Given the description of an element on the screen output the (x, y) to click on. 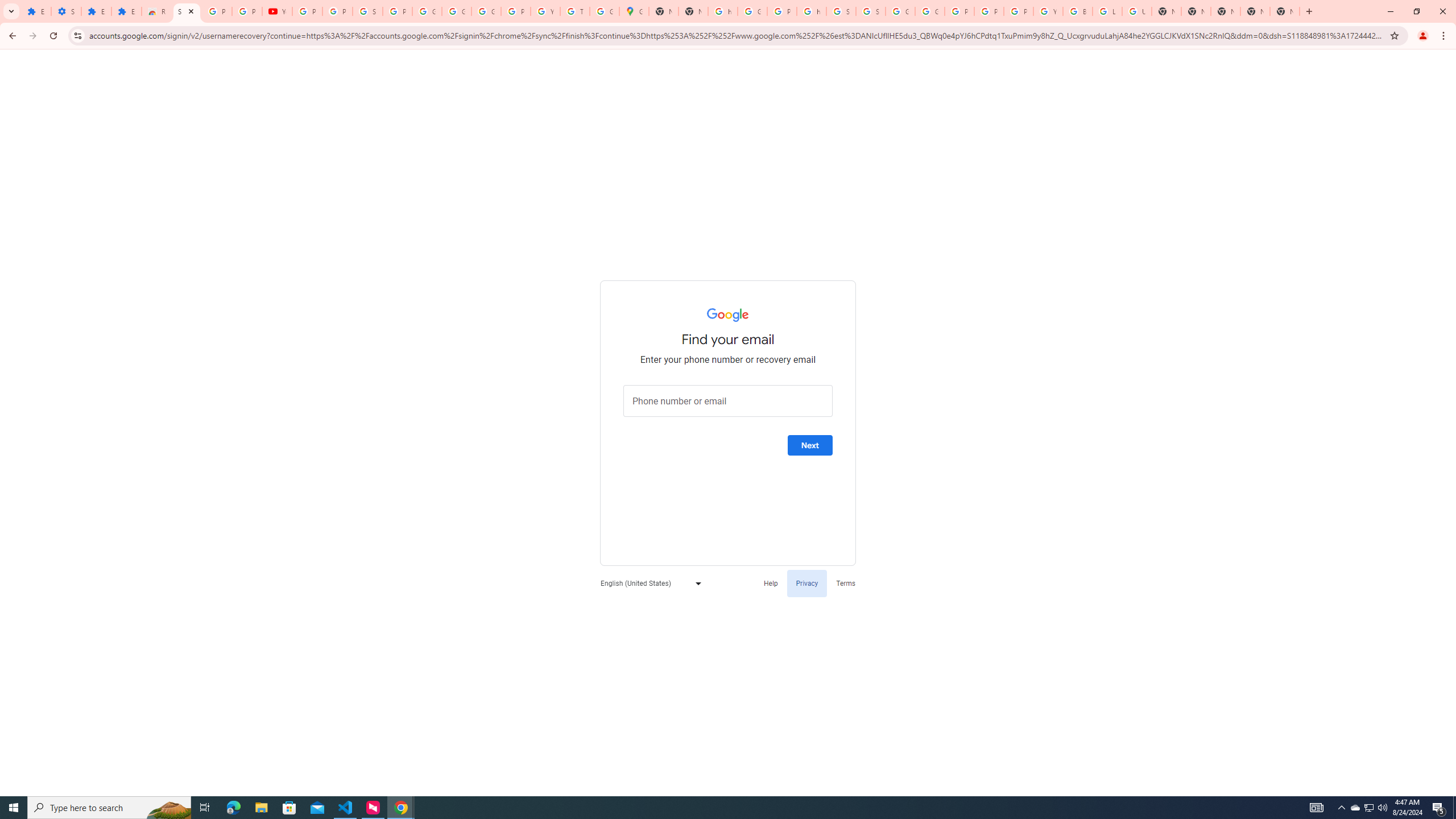
Privacy Help Center - Policies Help (959, 11)
https://scholar.google.com/ (811, 11)
Browse Chrome as a guest - Computer - Google Chrome Help (1077, 11)
Google Maps (633, 11)
Google Account (456, 11)
Privacy (806, 583)
Privacy Help Center - Policies Help (989, 11)
https://scholar.google.com/ (722, 11)
New Tab (1224, 11)
